Given the description of an element on the screen output the (x, y) to click on. 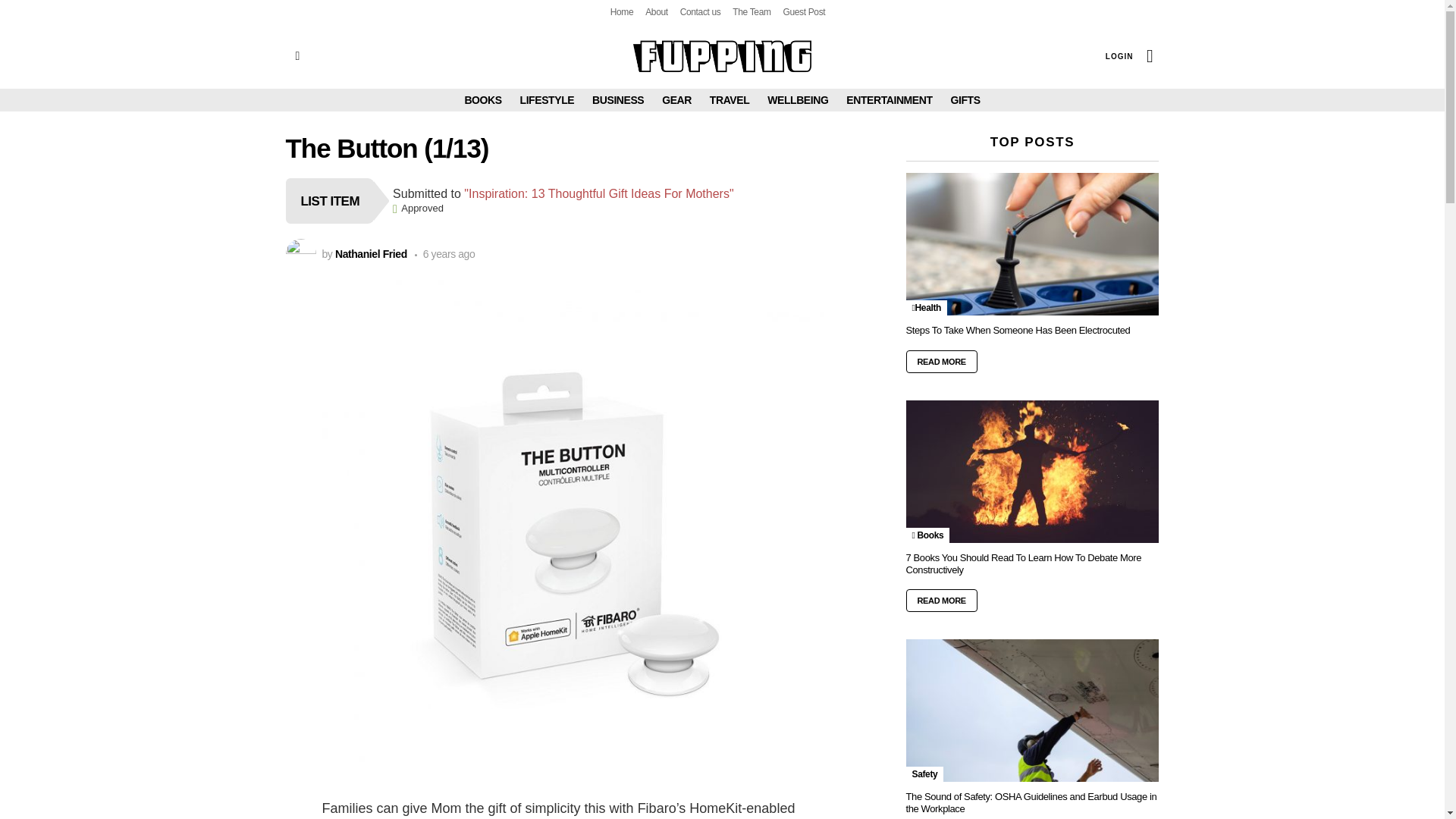
Home (621, 12)
WELLBEING (797, 99)
GEAR (675, 99)
Nathaniel Fried (370, 254)
Contact us (699, 12)
GIFTS (964, 99)
ENTERTAINMENT (888, 99)
Steps To Take When Someone Has Been Electrocuted (1031, 243)
July 6, 2018, 5:00 am (445, 254)
About (656, 12)
"Inspiration: 13 Thoughtful Gift Ideas For Mothers" (598, 193)
Guest Post (804, 12)
LIFESTYLE (547, 99)
